Given the description of an element on the screen output the (x, y) to click on. 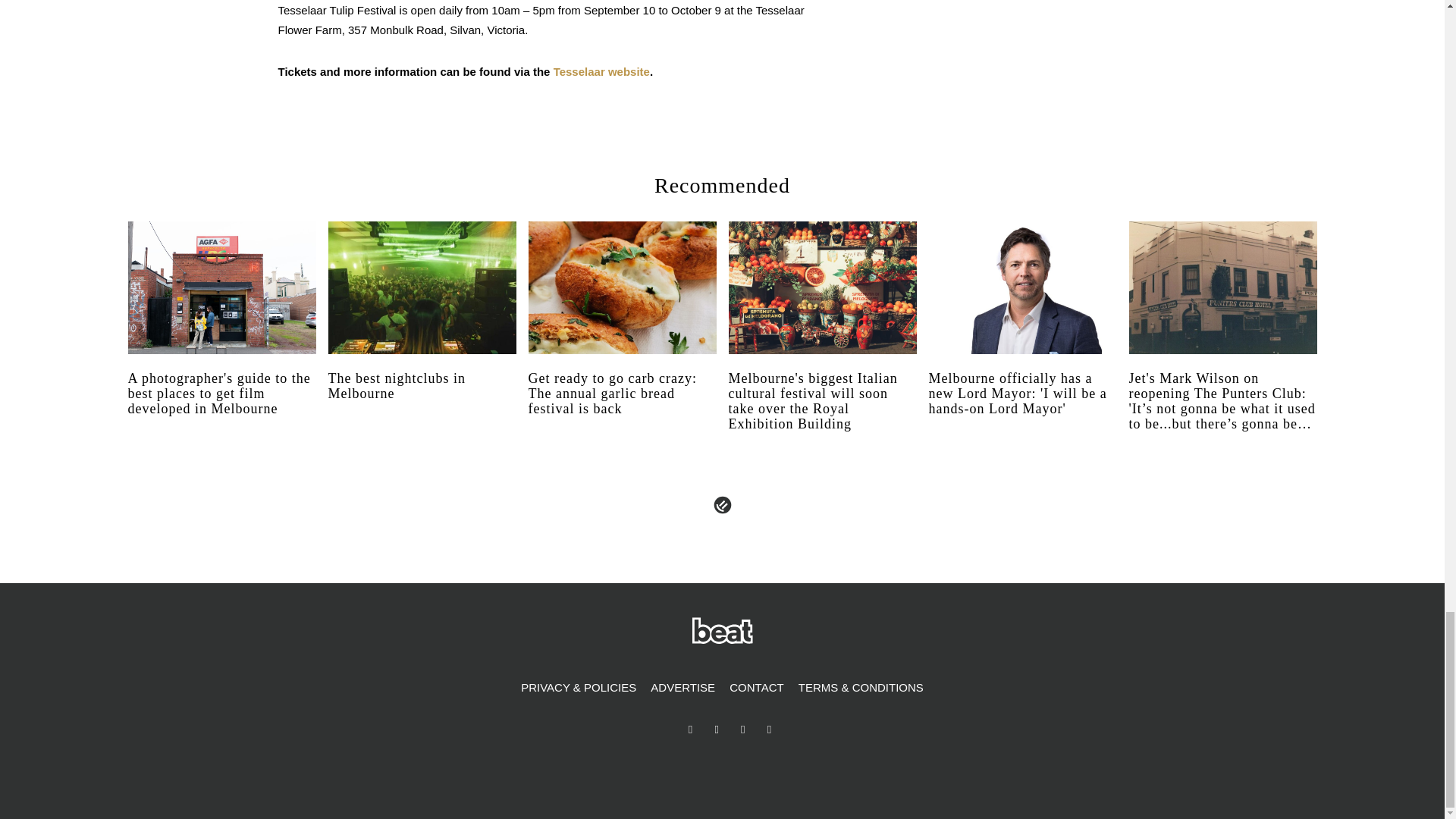
Tesselaar website (601, 71)
The best nightclubs in Melbourne (421, 400)
